Given the description of an element on the screen output the (x, y) to click on. 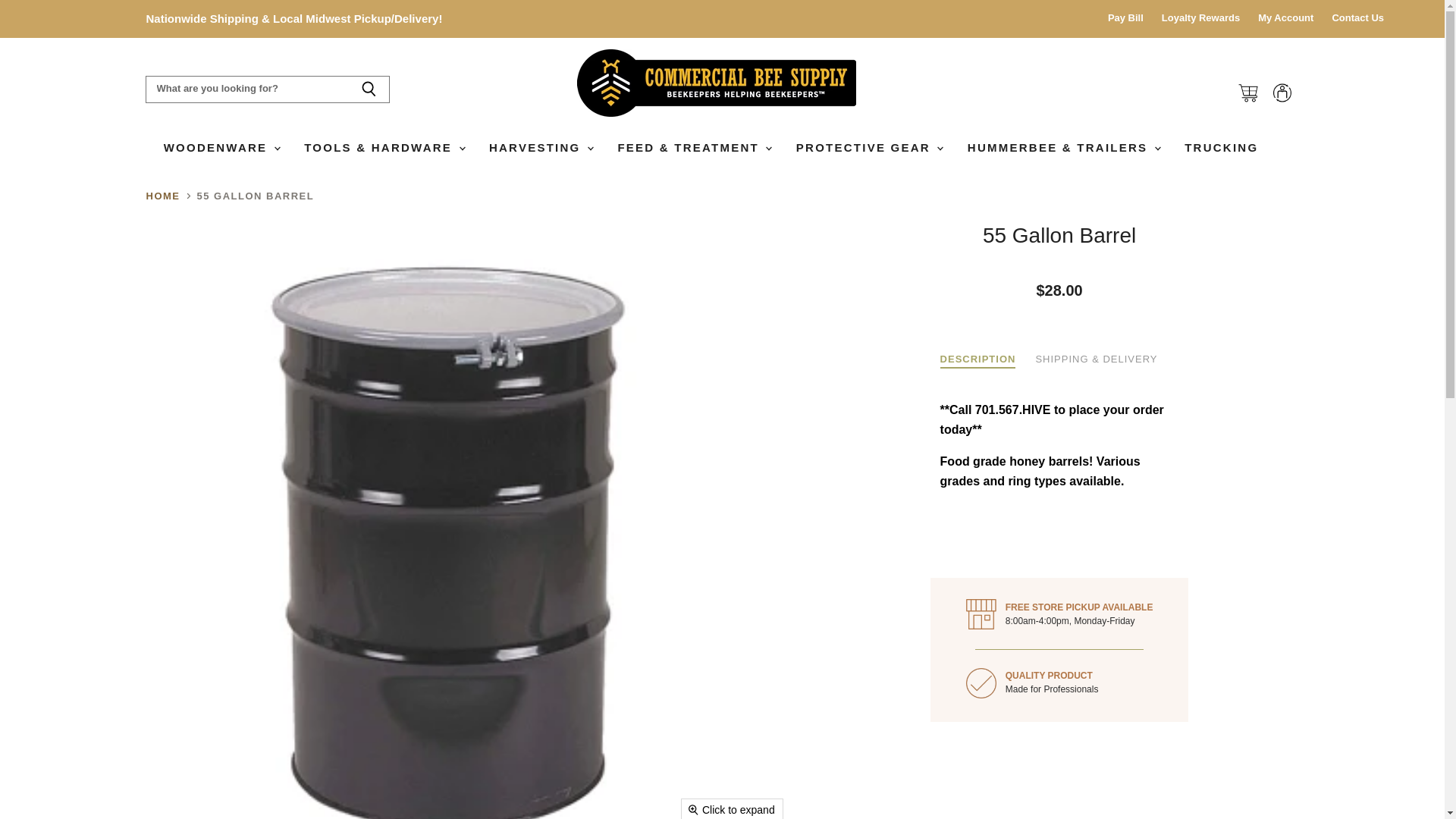
View cart (1247, 93)
WOODENWARE (220, 147)
Loyalty Rewards (1200, 18)
My Account (1285, 18)
Contact Us (1358, 18)
HARVESTING (539, 147)
Pay Bill (1125, 18)
View account (1281, 93)
